Given the description of an element on the screen output the (x, y) to click on. 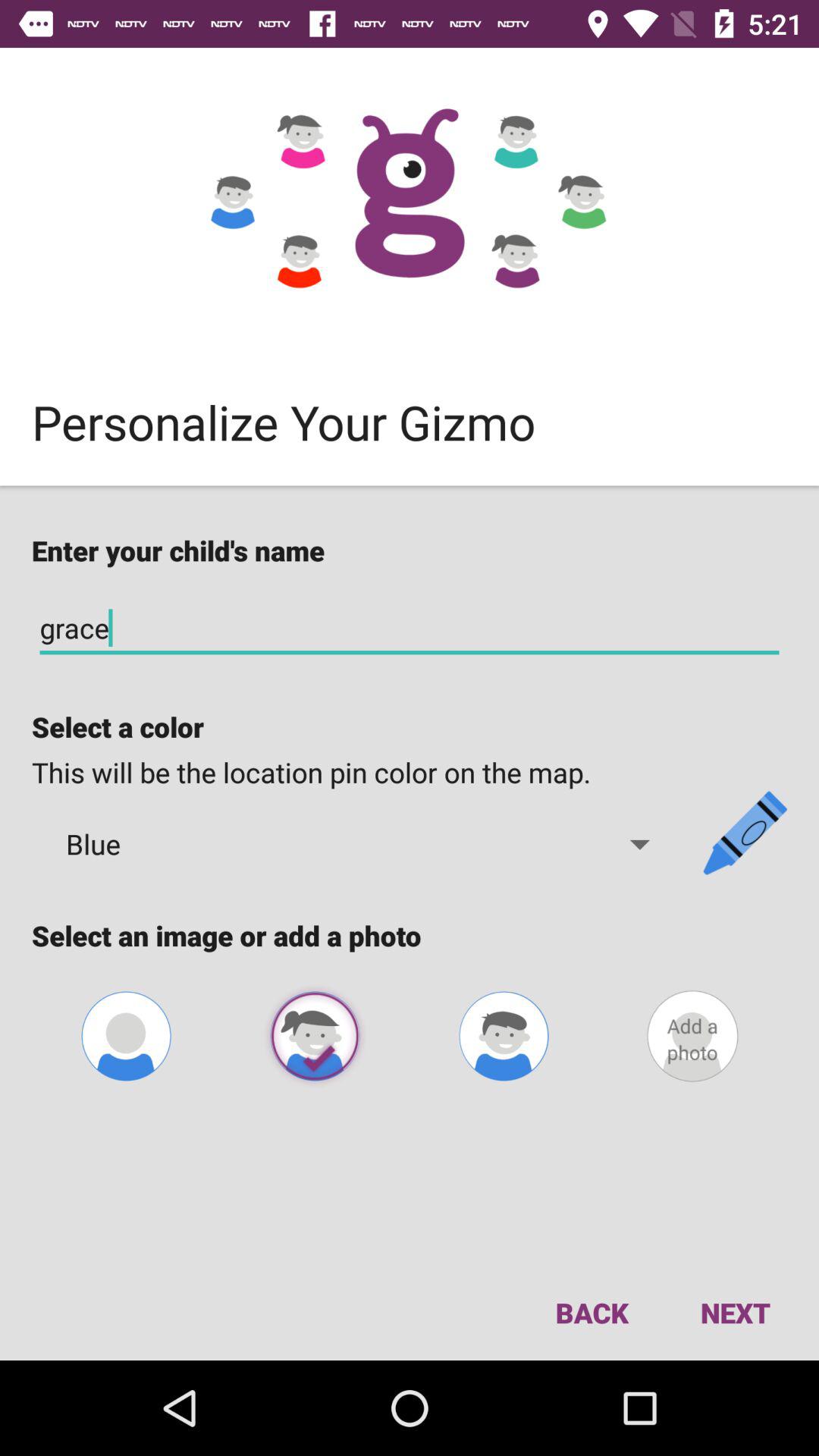
select photo (314, 1036)
